Given the description of an element on the screen output the (x, y) to click on. 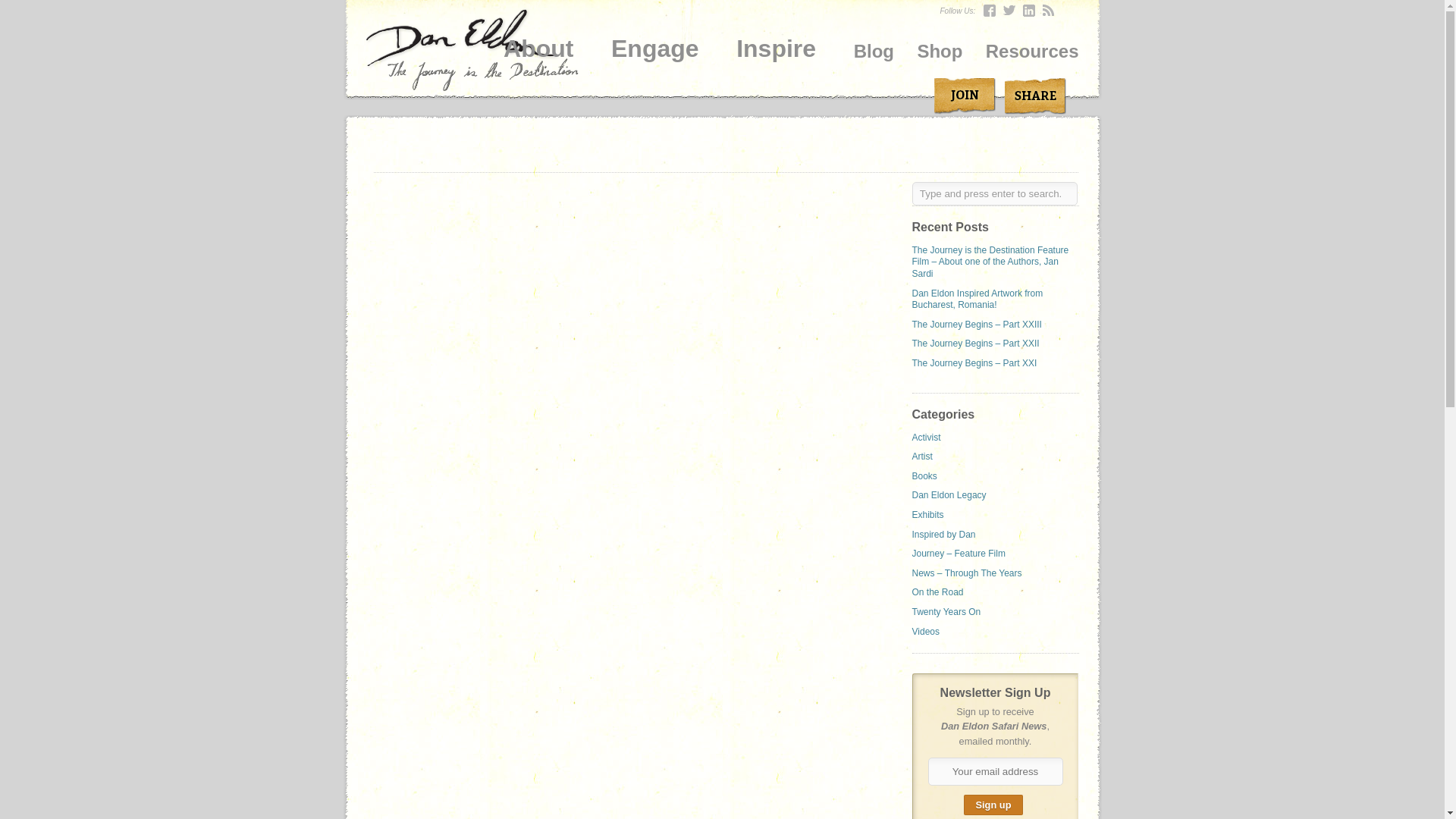
join (964, 96)
RSS (1048, 10)
Books about Dan (923, 475)
Type and press enter to search. (994, 193)
Inspired by Dan (943, 534)
Traveling and Local Exhibitions (927, 514)
Resources (1031, 49)
Twenty Years On (945, 611)
Shop (939, 49)
Shop : Deziree Safari 1957 Trading Company (939, 49)
Showcasing Dan Eldon's many talents in Art. (921, 456)
The feature film story of Dan Eldon (957, 552)
Sign up (993, 804)
Blog (873, 49)
Dan Eldon Inspired Artwork from Bucharest, Romania! (976, 299)
